Given the description of an element on the screen output the (x, y) to click on. 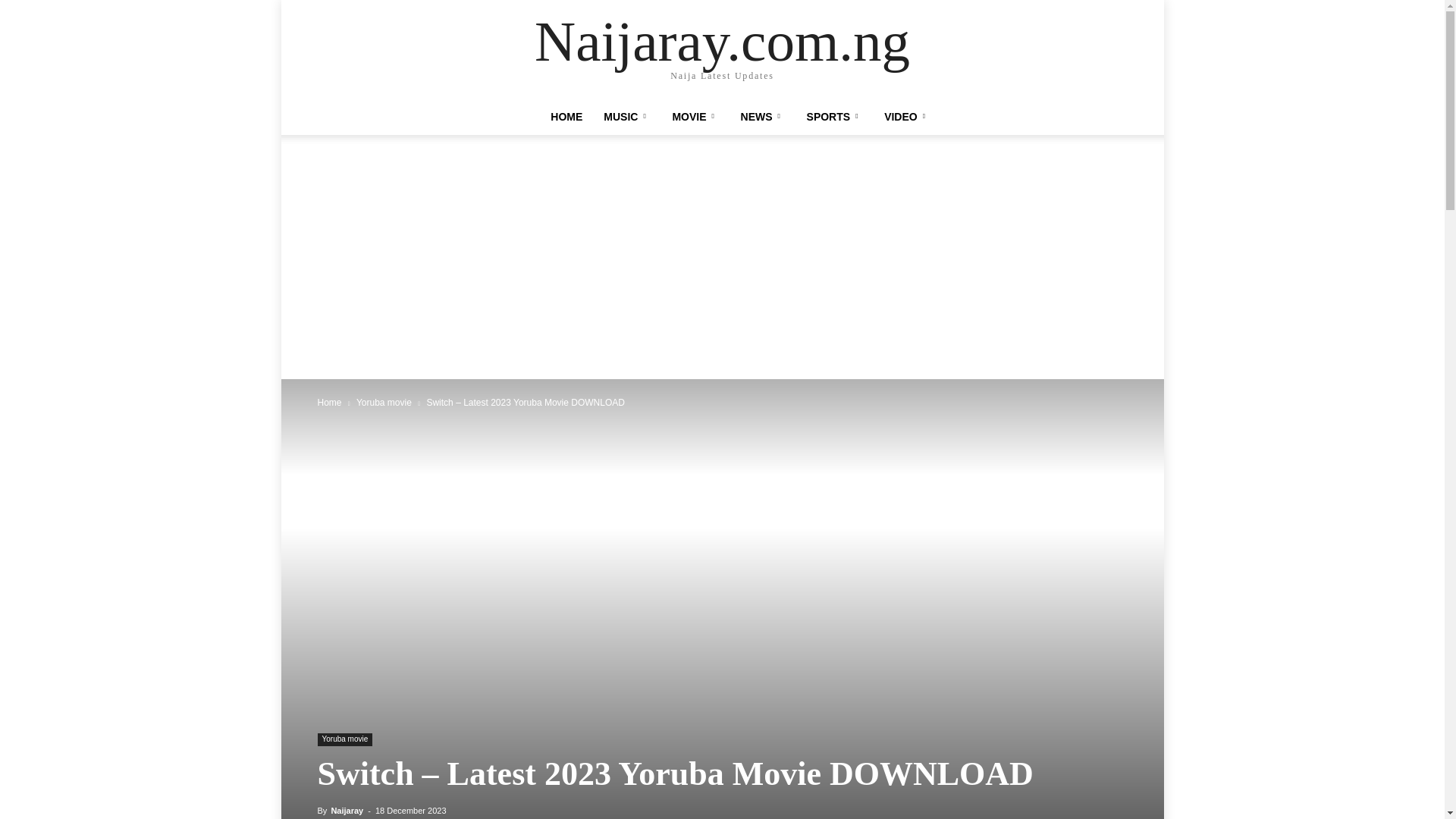
Naijaray.com.ng Naija Latest Updates (721, 50)
MUSIC (626, 116)
View all posts in Yoruba movie (384, 402)
HOME (566, 116)
